Given the description of an element on the screen output the (x, y) to click on. 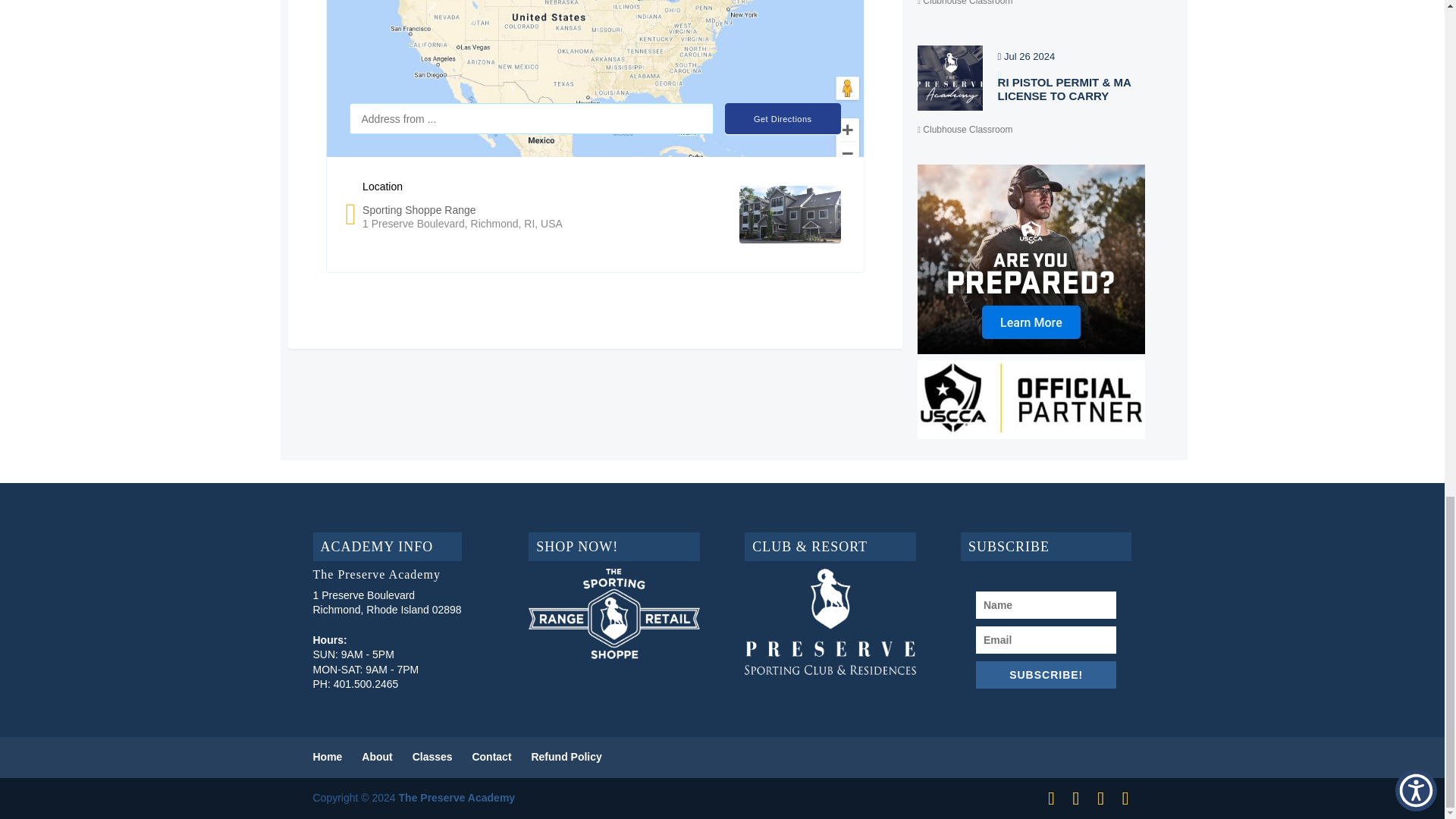
Get Directions (783, 118)
